Given the description of an element on the screen output the (x, y) to click on. 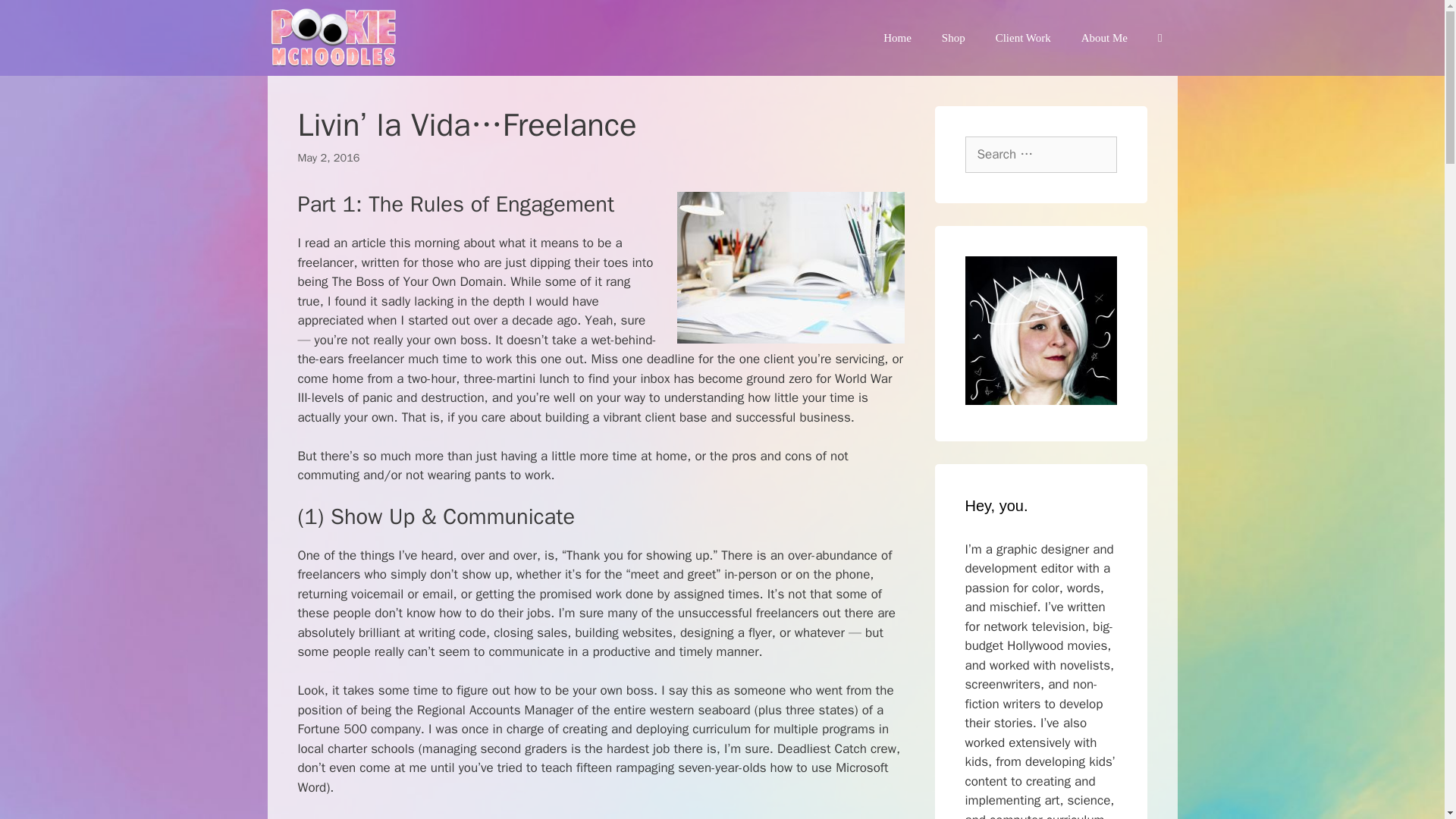
Search (32, 16)
Shop (952, 37)
Pookie McNoodles (331, 38)
Pookie McNoodles (336, 38)
Search for: (1039, 154)
Home (896, 37)
About Me (1103, 37)
Client Work (1022, 37)
